Given the description of an element on the screen output the (x, y) to click on. 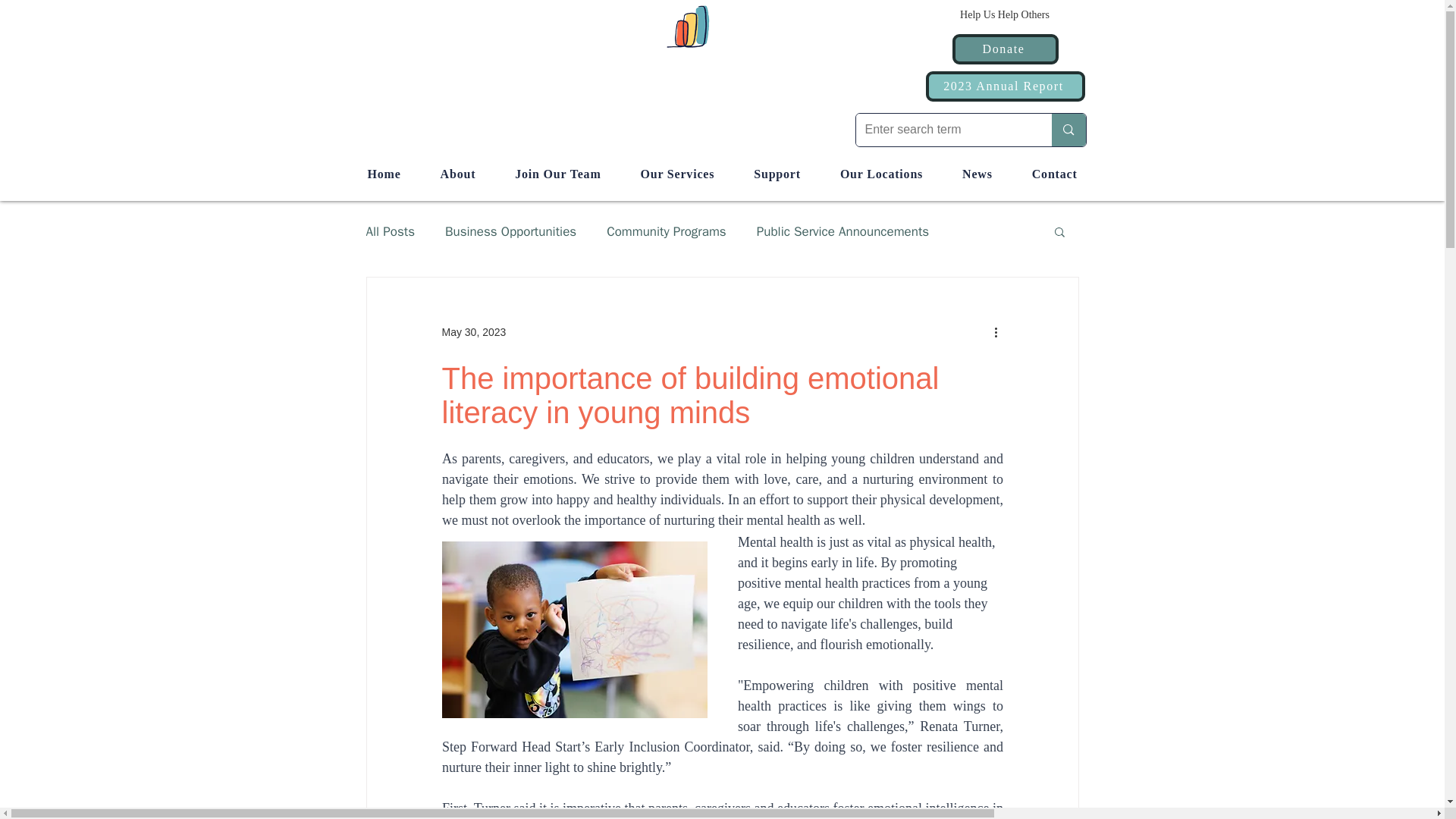
About (458, 174)
Public Service Announcements (842, 231)
2023 Annual Report (1004, 86)
Contact (1054, 174)
Join Our Team (557, 174)
step forward today logo (721, 26)
May 30, 2023 (473, 331)
Home (383, 174)
All Posts (389, 231)
News (976, 174)
Community Programs (666, 231)
Business Opportunities (510, 231)
Donate (1005, 49)
